Given the description of an element on the screen output the (x, y) to click on. 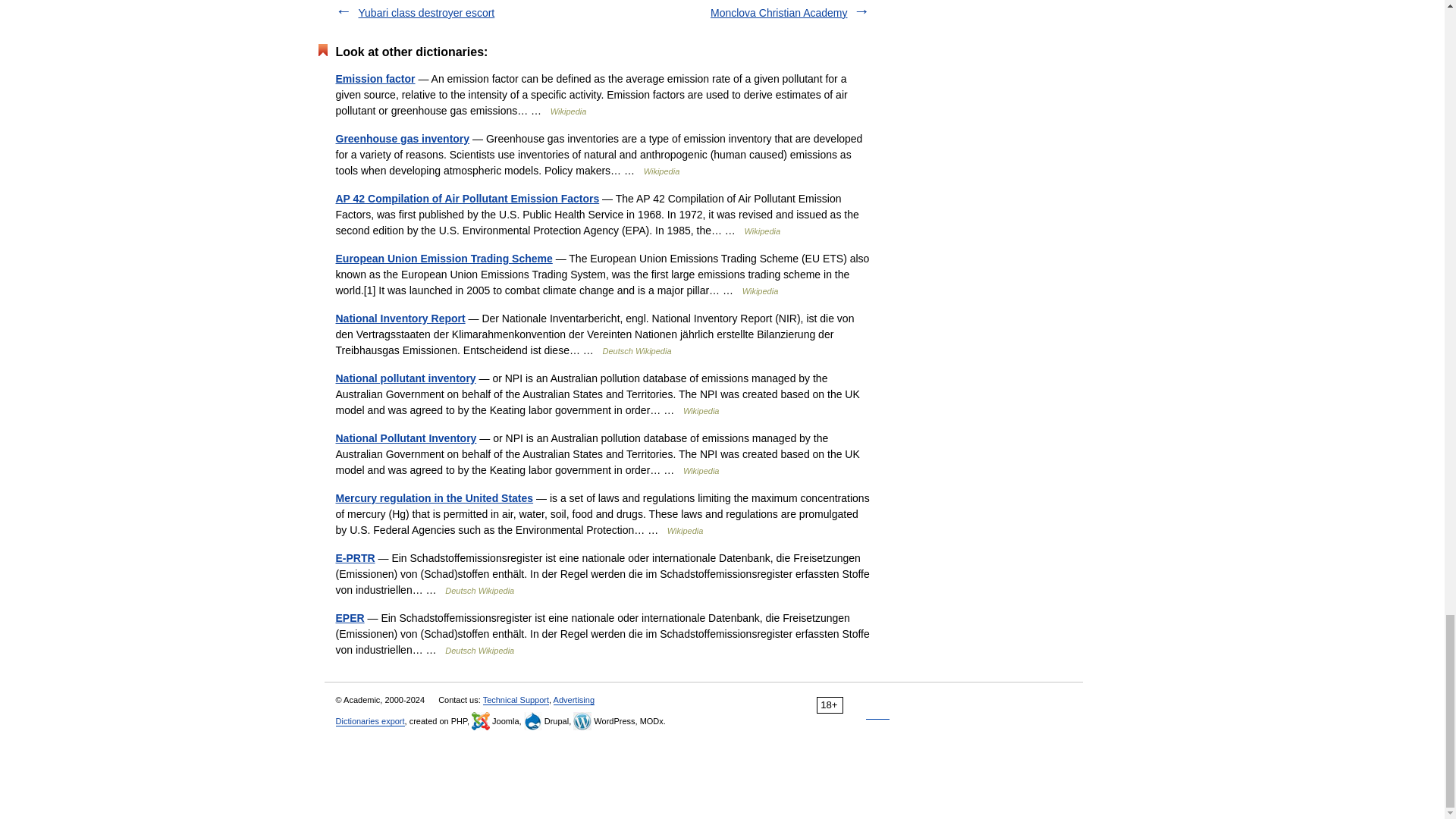
AP 42 Compilation of Air Pollutant Emission Factors (466, 198)
National Pollutant Inventory (405, 438)
EPER (349, 617)
Emission factor (374, 78)
Monclova Christian Academy (778, 12)
Monclova Christian Academy (778, 12)
European Union Emission Trading Scheme (442, 258)
E-PRTR (354, 558)
National pollutant inventory (405, 378)
Yubari class destroyer escort (426, 12)
National Inventory Report (399, 318)
Yubari class destroyer escort (426, 12)
Mercury regulation in the United States (433, 498)
Greenhouse gas inventory (401, 138)
LiveInternet (877, 705)
